Given the description of an element on the screen output the (x, y) to click on. 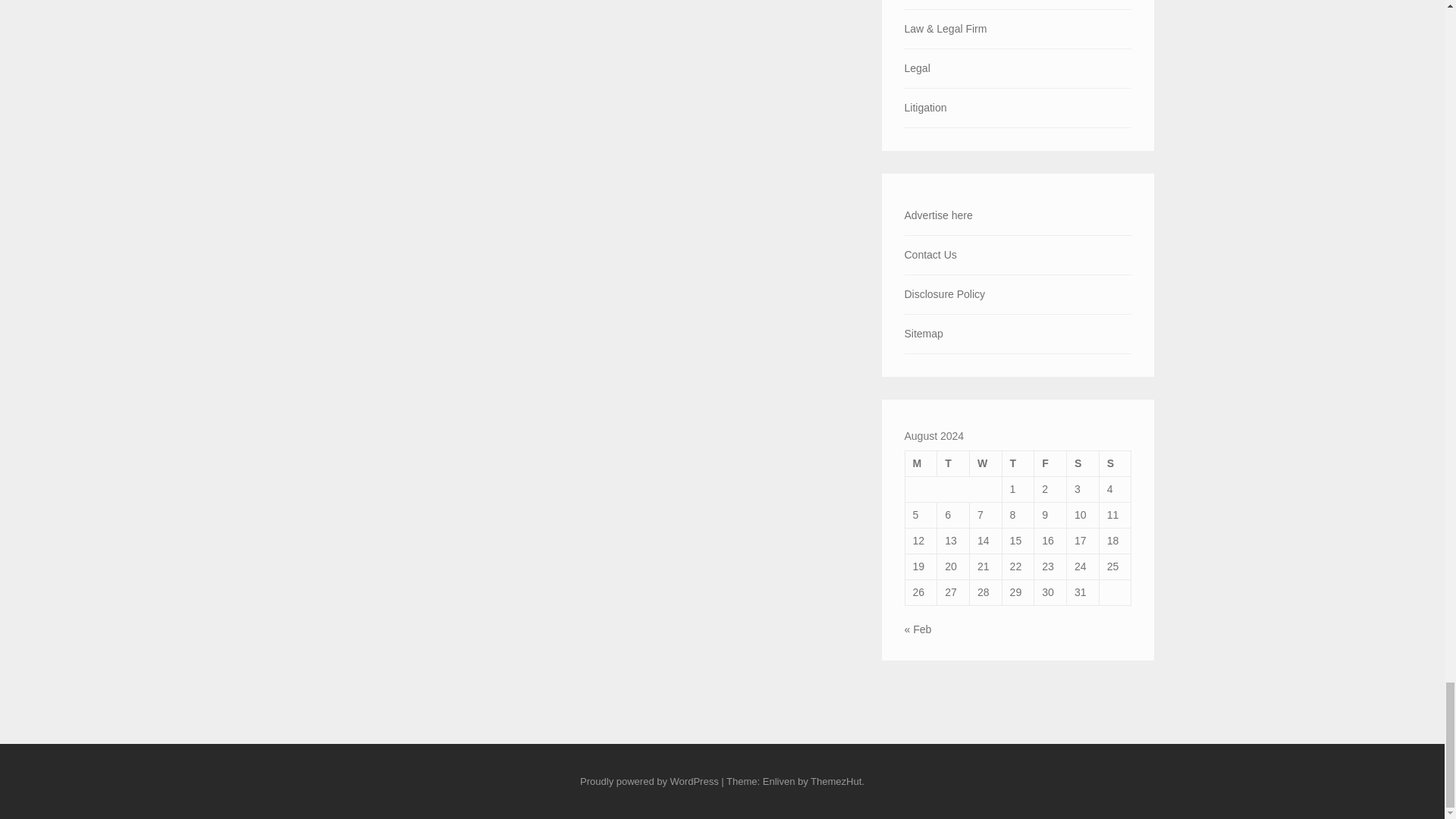
Friday (1050, 462)
Tuesday (953, 462)
Saturday (1083, 462)
Monday (920, 462)
Sunday (1115, 462)
Wednesday (985, 462)
Thursday (1017, 462)
